Given the description of an element on the screen output the (x, y) to click on. 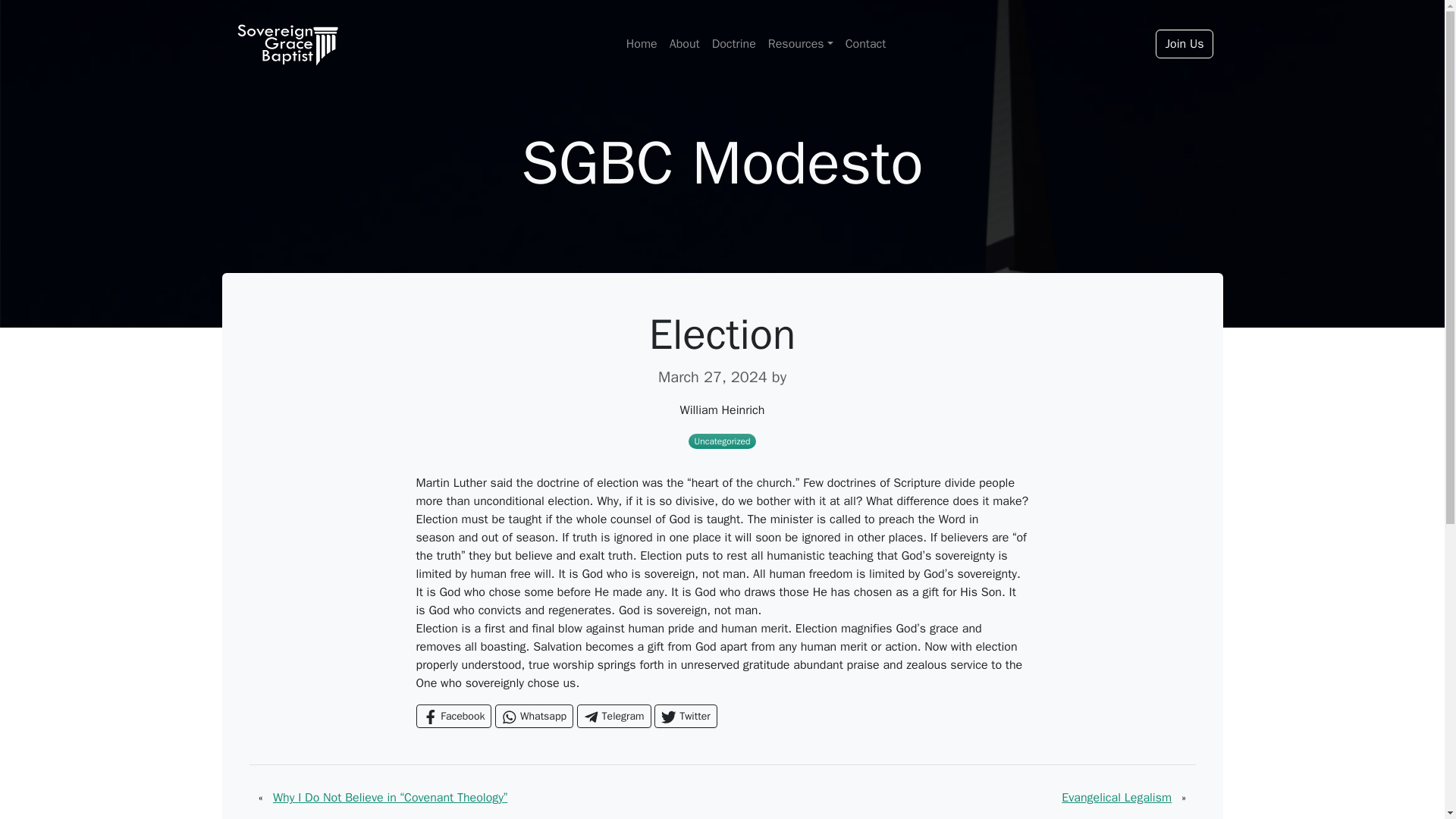
Evangelical Legalism (1115, 797)
Share on Facebook (453, 716)
Doctrine (733, 43)
Home (641, 43)
Resources (800, 43)
Whatsapp (534, 716)
Contact (866, 43)
Share on Telegram (613, 716)
Uncategorized (721, 441)
About (684, 43)
Facebook (453, 716)
Share on Whatsapp (534, 716)
Twitter (684, 716)
Telegram (613, 716)
Join Us (1185, 43)
